Given the description of an element on the screen output the (x, y) to click on. 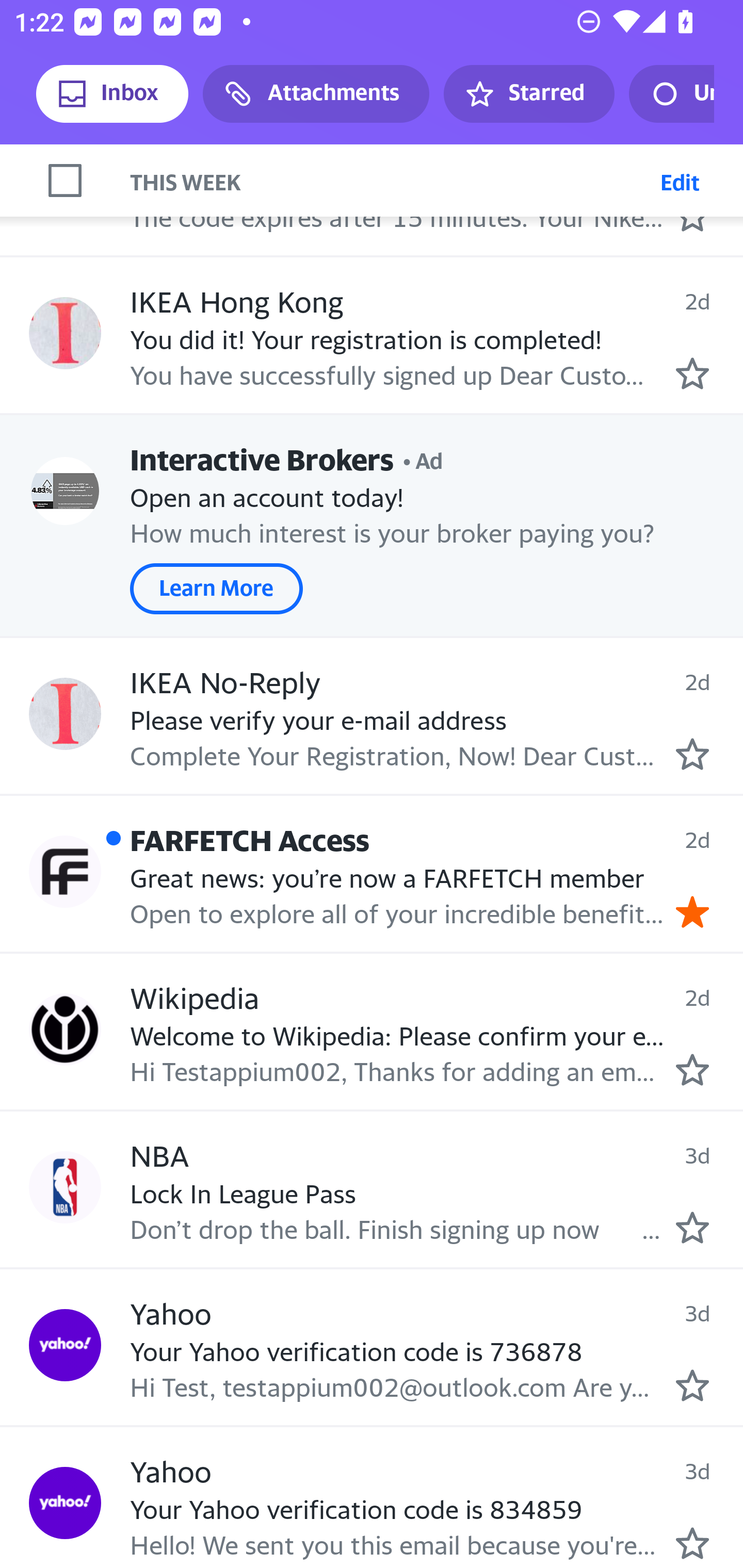
Attachments (315, 93)
Starred (528, 93)
Profile
Nike (64, 177)
Profile
IKEA Hong Kong (64, 333)
Mark as starred. (692, 373)
Profile
IKEA No-Reply (64, 713)
Mark as starred. (692, 753)
Profile
FARFETCH Access (64, 871)
Remove star. (692, 911)
Profile
Wikipedia (64, 1030)
Mark as starred. (692, 1070)
Profile
NBA (64, 1186)
Mark as starred. (692, 1226)
Profile
Yahoo (64, 1345)
Mark as starred. (692, 1385)
Profile
Yahoo (64, 1503)
Mark as starred. (692, 1543)
